Given the description of an element on the screen output the (x, y) to click on. 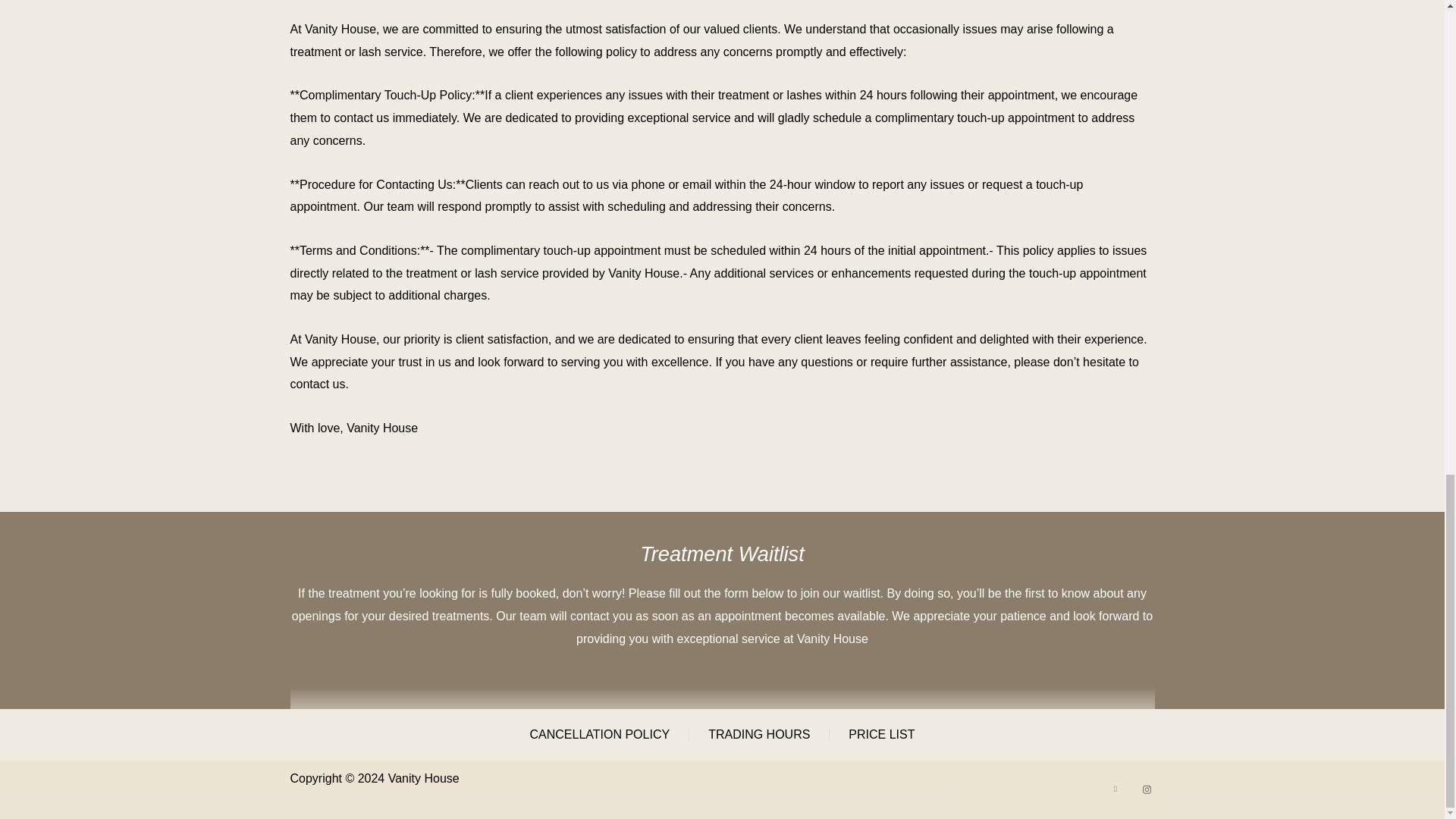
PRICE LIST (881, 734)
CANCELLATION POLICY (599, 734)
TRADING HOURS (758, 734)
